Given the description of an element on the screen output the (x, y) to click on. 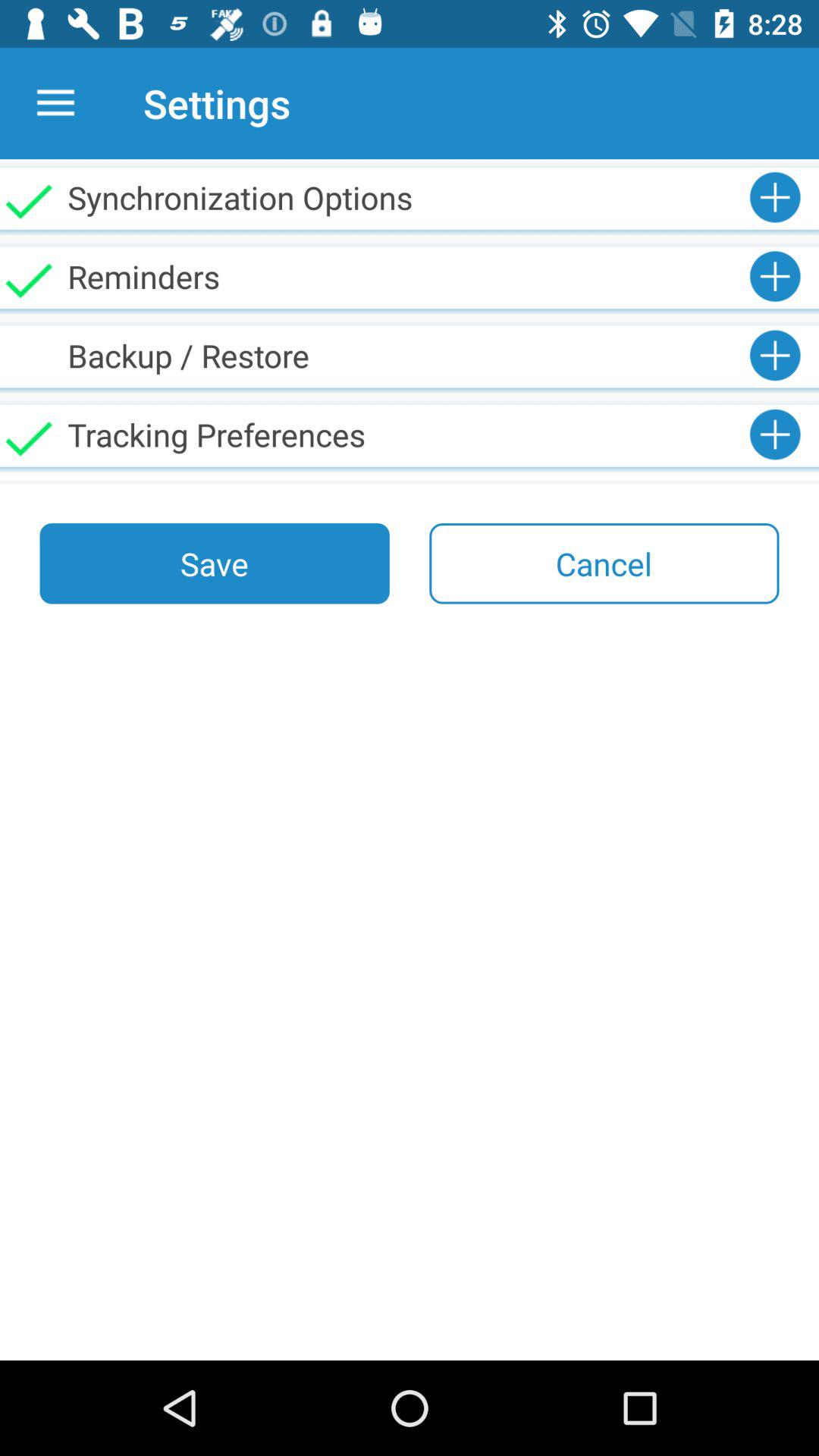
turn off item to the left of settings (55, 103)
